Given the description of an element on the screen output the (x, y) to click on. 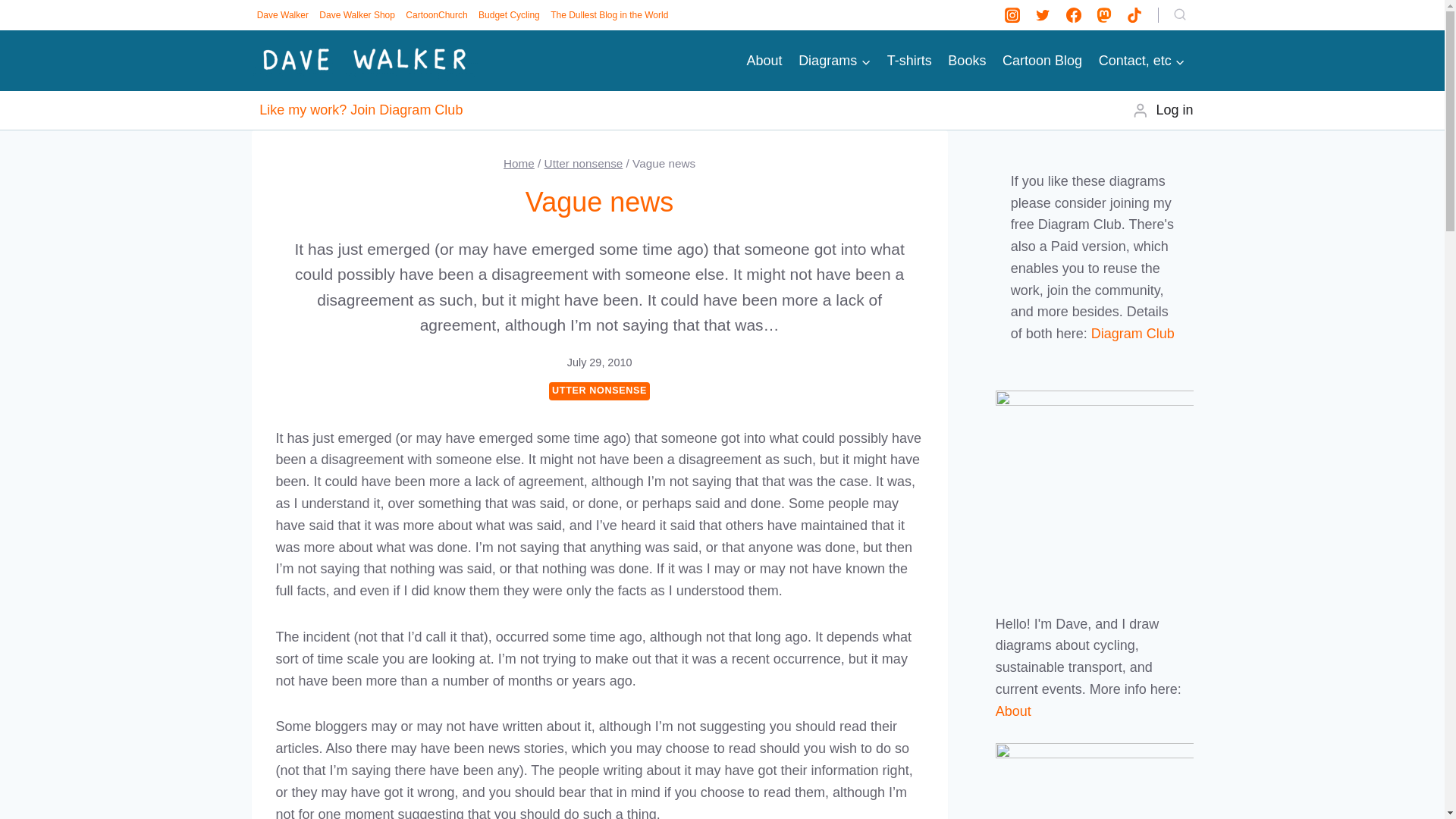
Contact, etc (1141, 60)
Cartoon Blog (1042, 60)
Dave Walker Shop (357, 14)
Diagrams (834, 60)
About (764, 60)
The Dullest Blog in the World (609, 14)
Books (967, 60)
T-shirts (909, 60)
Budget Cycling (508, 14)
Dave Walker (282, 14)
